Given the description of an element on the screen output the (x, y) to click on. 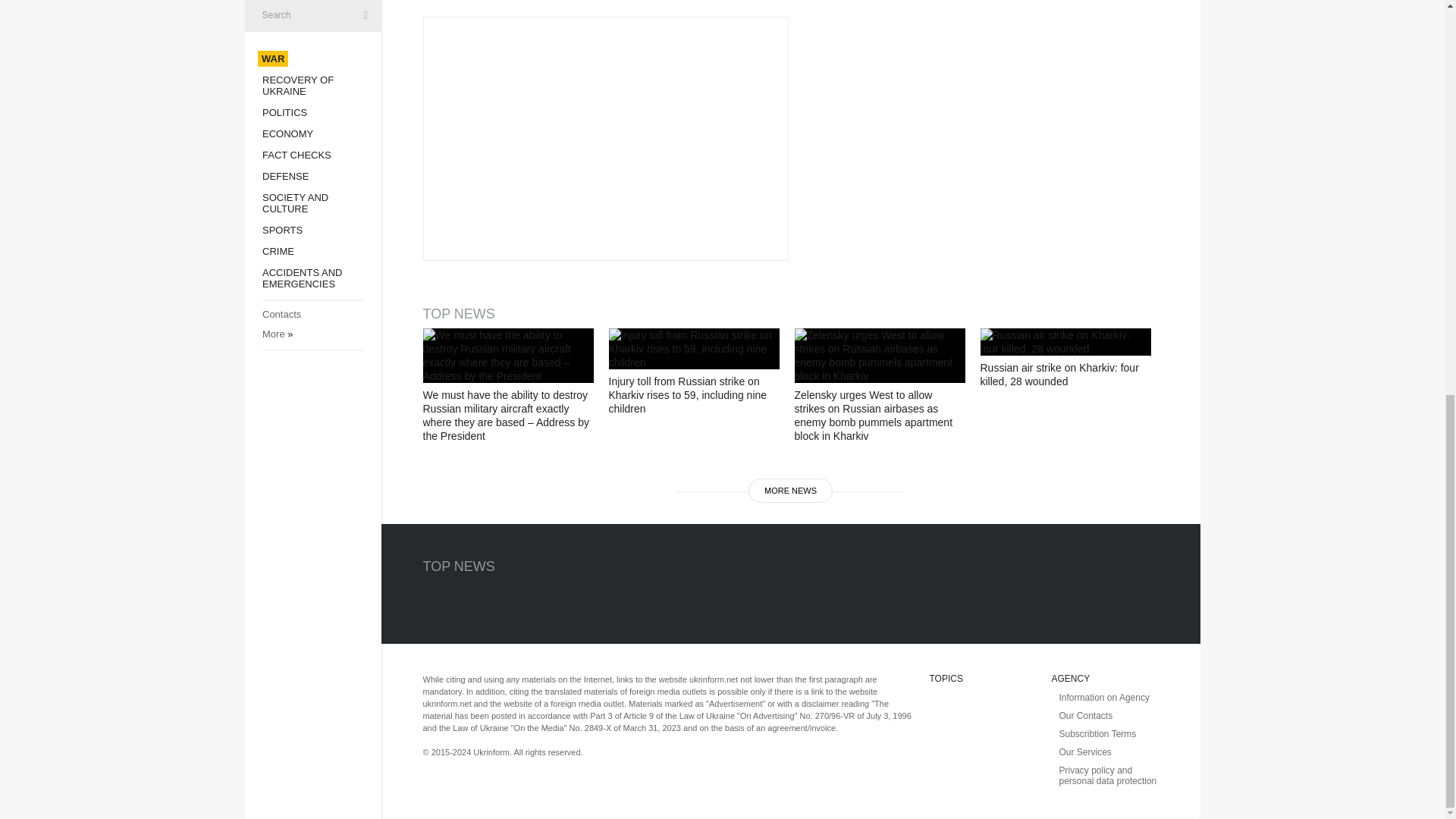
Russian air strike on Kharkiv: four killed, 28 wounded (1064, 341)
